Given the description of an element on the screen output the (x, y) to click on. 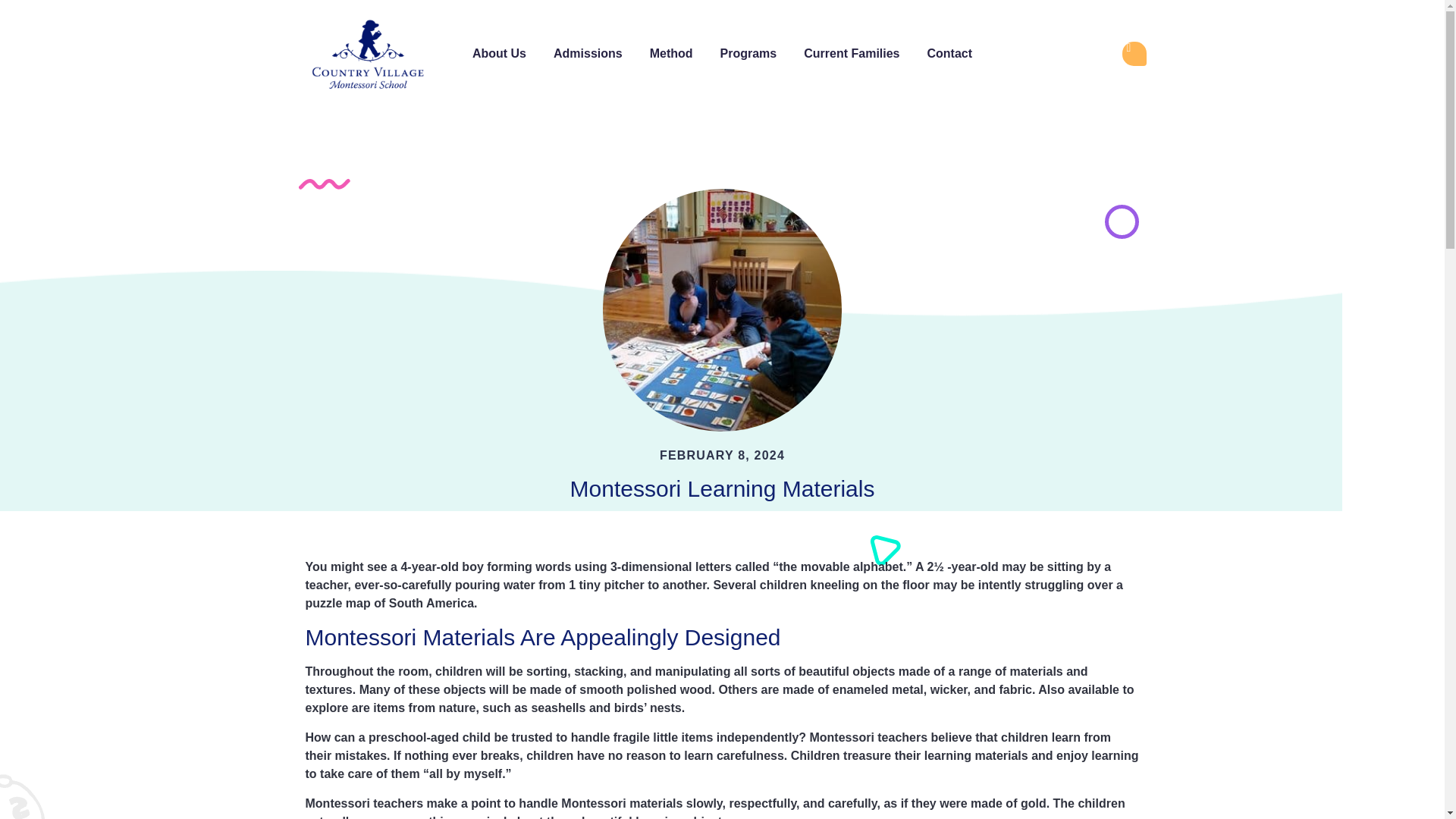
About Us (498, 53)
Contact (949, 53)
Current Families (850, 53)
Method (671, 53)
Facebook (1134, 53)
Programs (748, 53)
Admissions (588, 53)
